Given the description of an element on the screen output the (x, y) to click on. 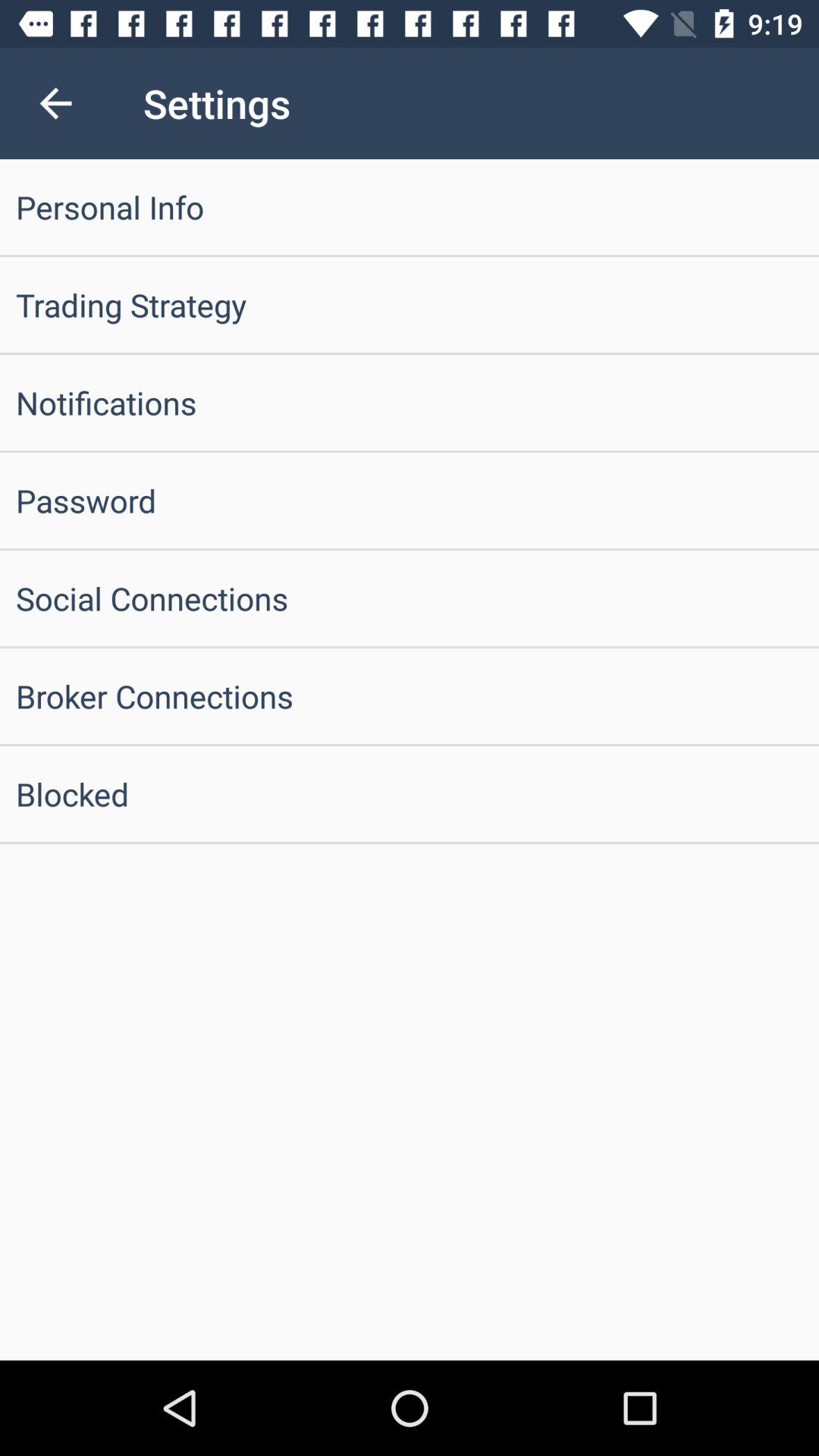
swipe to the blocked item (409, 793)
